Given the description of an element on the screen output the (x, y) to click on. 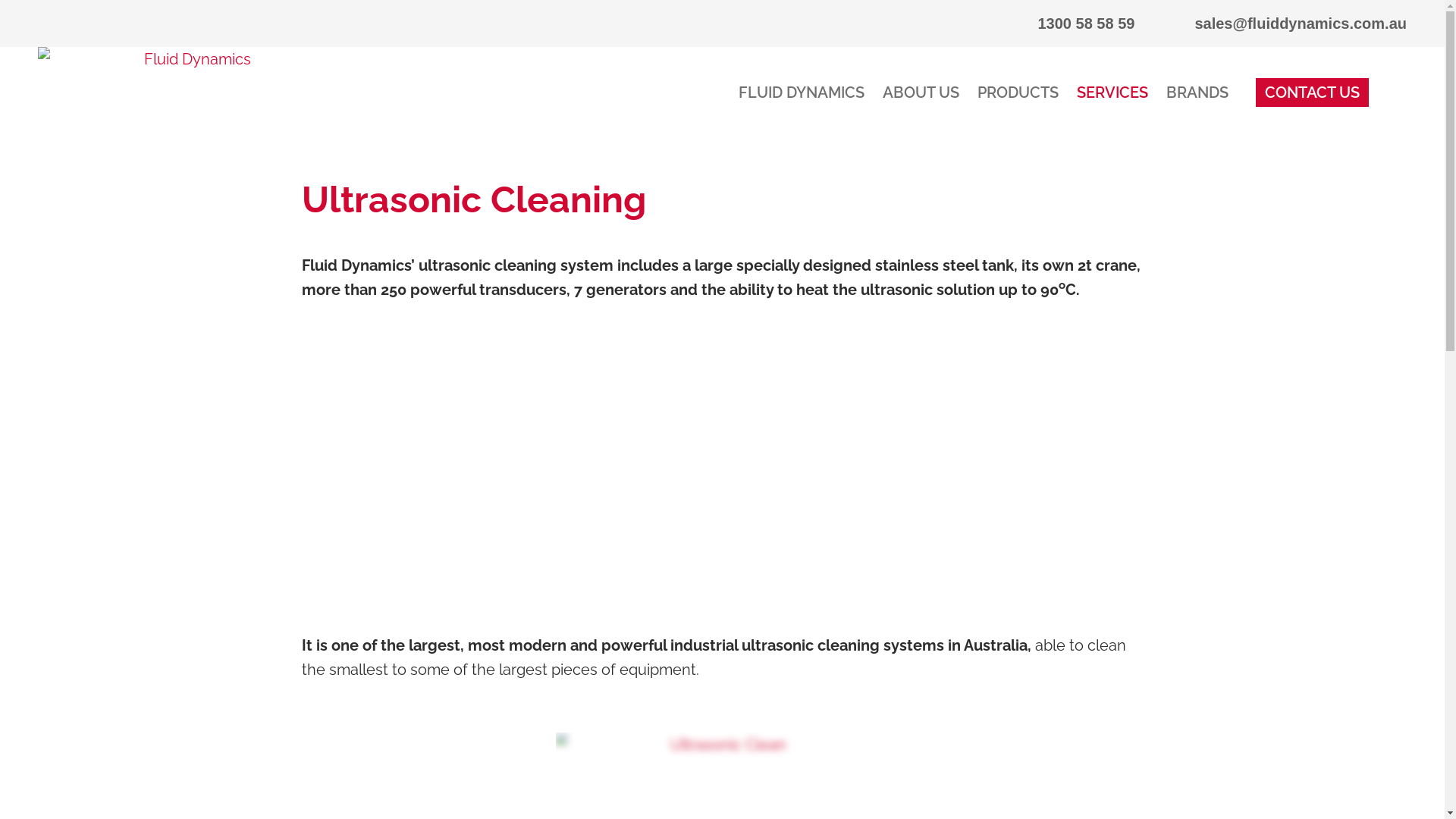
CONTACT US Element type: text (1311, 92)
1300 58 58 59 Element type: text (1071, 23)
FLUID DYNAMICS Element type: text (801, 92)
SERVICES Element type: text (1112, 92)
ABOUT US Element type: text (920, 92)
BRANDS Element type: text (1197, 92)
PRODUCTS Element type: text (1017, 92)
sales@fluiddynamics.com.au Element type: text (1286, 23)
